Given the description of an element on the screen output the (x, y) to click on. 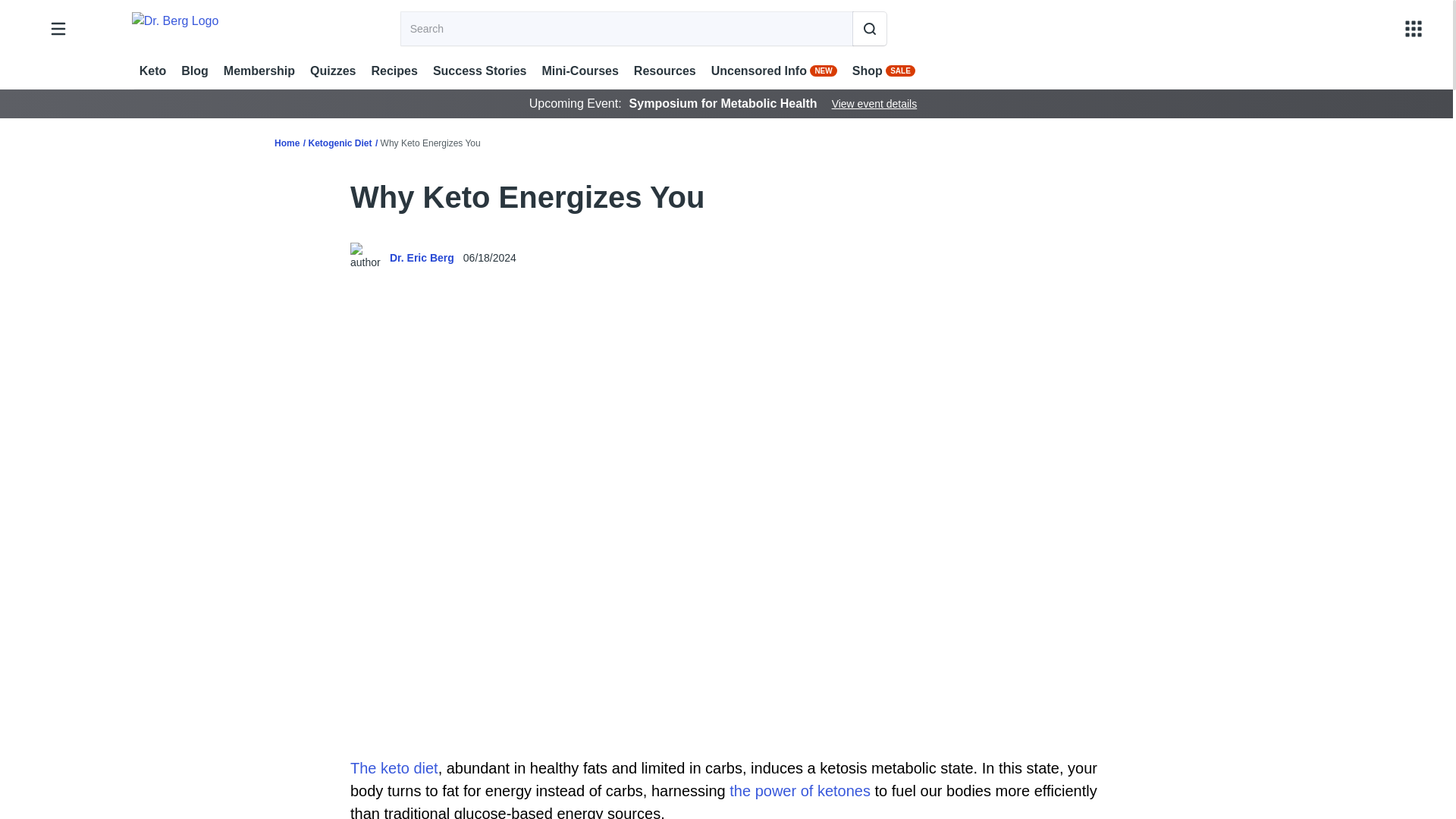
Dr. Eric Berg (422, 257)
Mini-Courses (580, 70)
Blog (194, 70)
Shop SALE (883, 70)
Recipes (394, 70)
Resources (664, 70)
Uncensored Info NEW (773, 70)
Keto (153, 70)
Home (287, 143)
Quizzes (332, 70)
Ketogenic Diet (339, 143)
Success Stories (479, 70)
the power of ketones (799, 790)
Membership (258, 70)
